Given the description of an element on the screen output the (x, y) to click on. 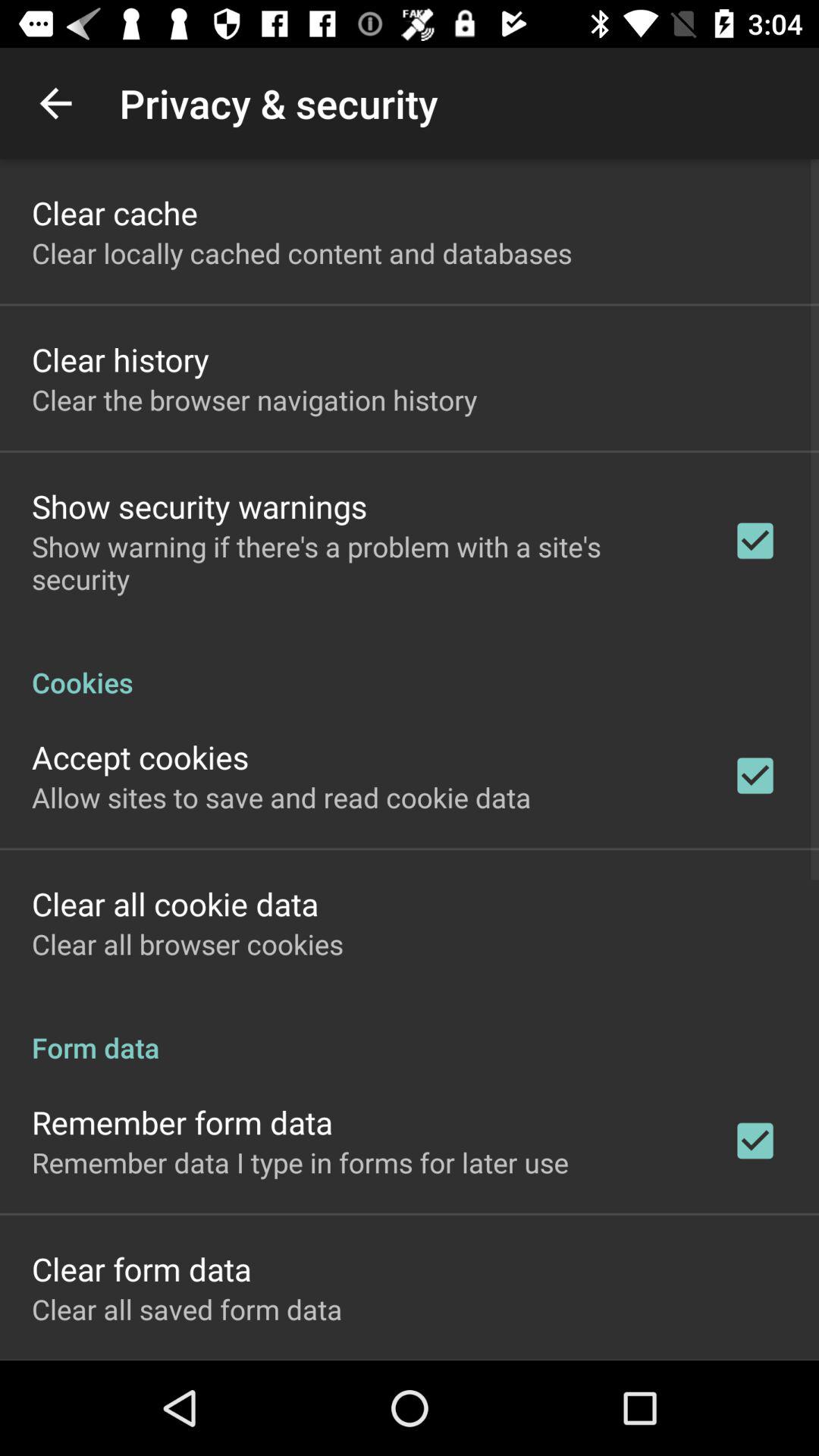
press item below show security warnings (361, 562)
